Given the description of an element on the screen output the (x, y) to click on. 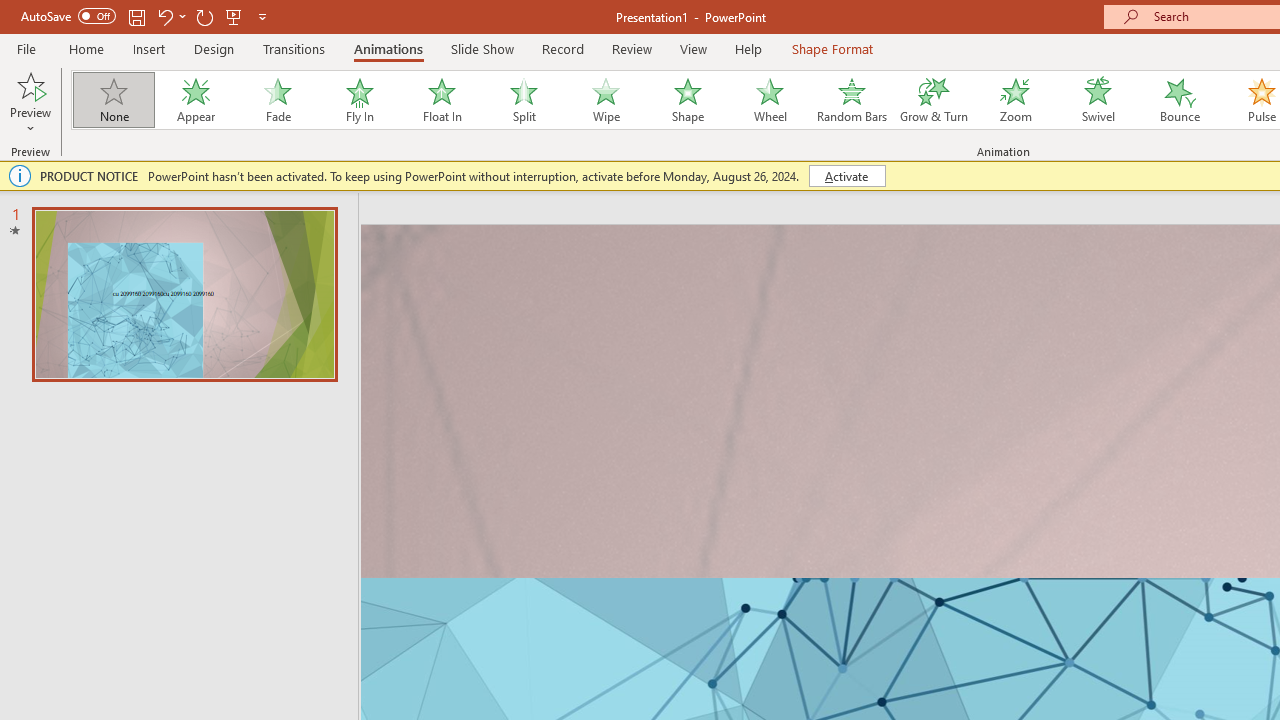
Appear (195, 100)
Shape (687, 100)
None (113, 100)
Wheel (770, 100)
